Given the description of an element on the screen output the (x, y) to click on. 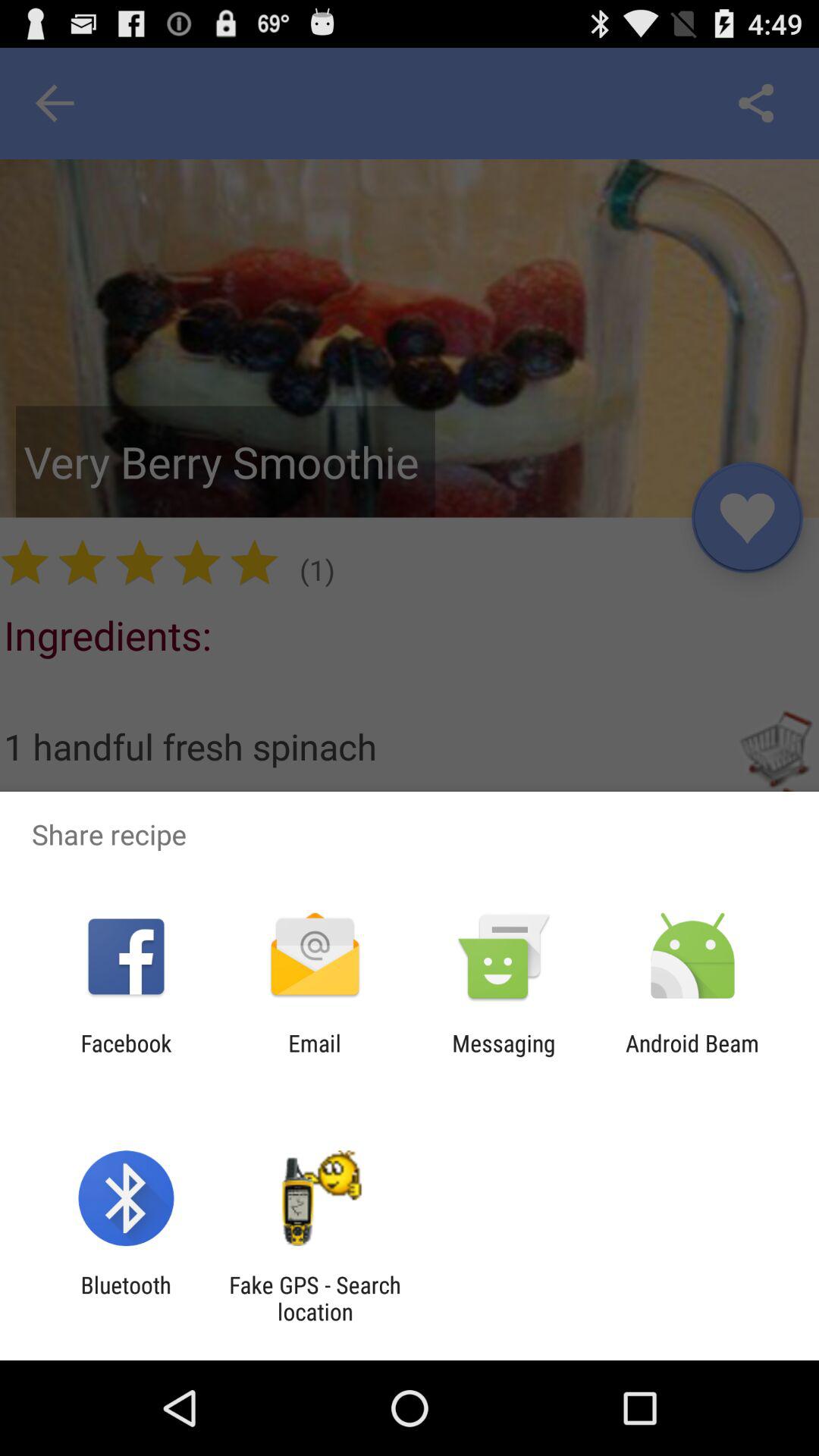
tap item to the left of the fake gps search item (125, 1298)
